Given the description of an element on the screen output the (x, y) to click on. 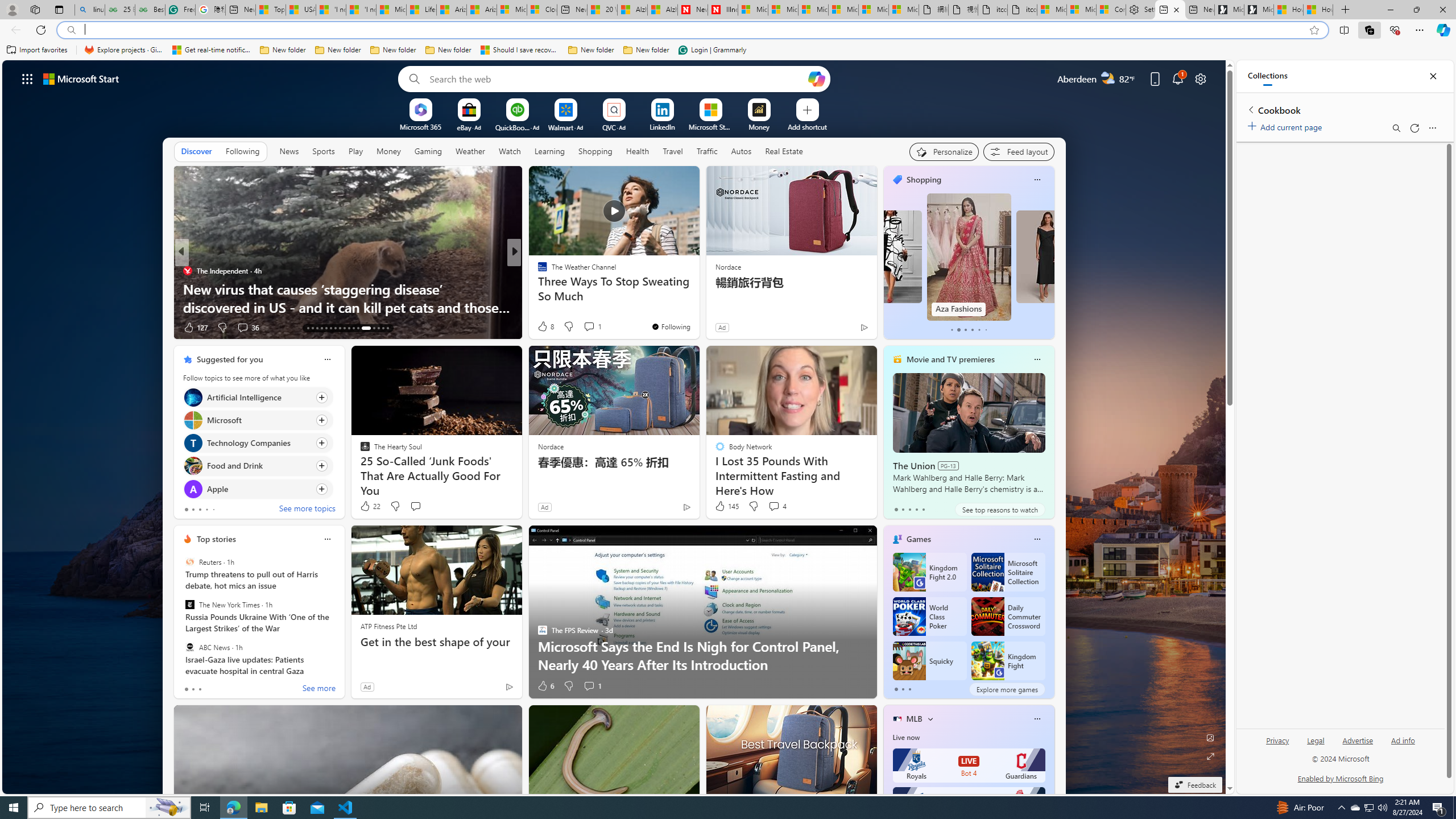
Back to list of collections (1250, 109)
AutomationID: tab-25 (365, 328)
Click to follow topic Artificial Intelligence (257, 397)
View comments 10 Comment (592, 327)
Food and Drink (192, 466)
AutomationID: tab-16 (321, 328)
